Given the description of an element on the screen output the (x, y) to click on. 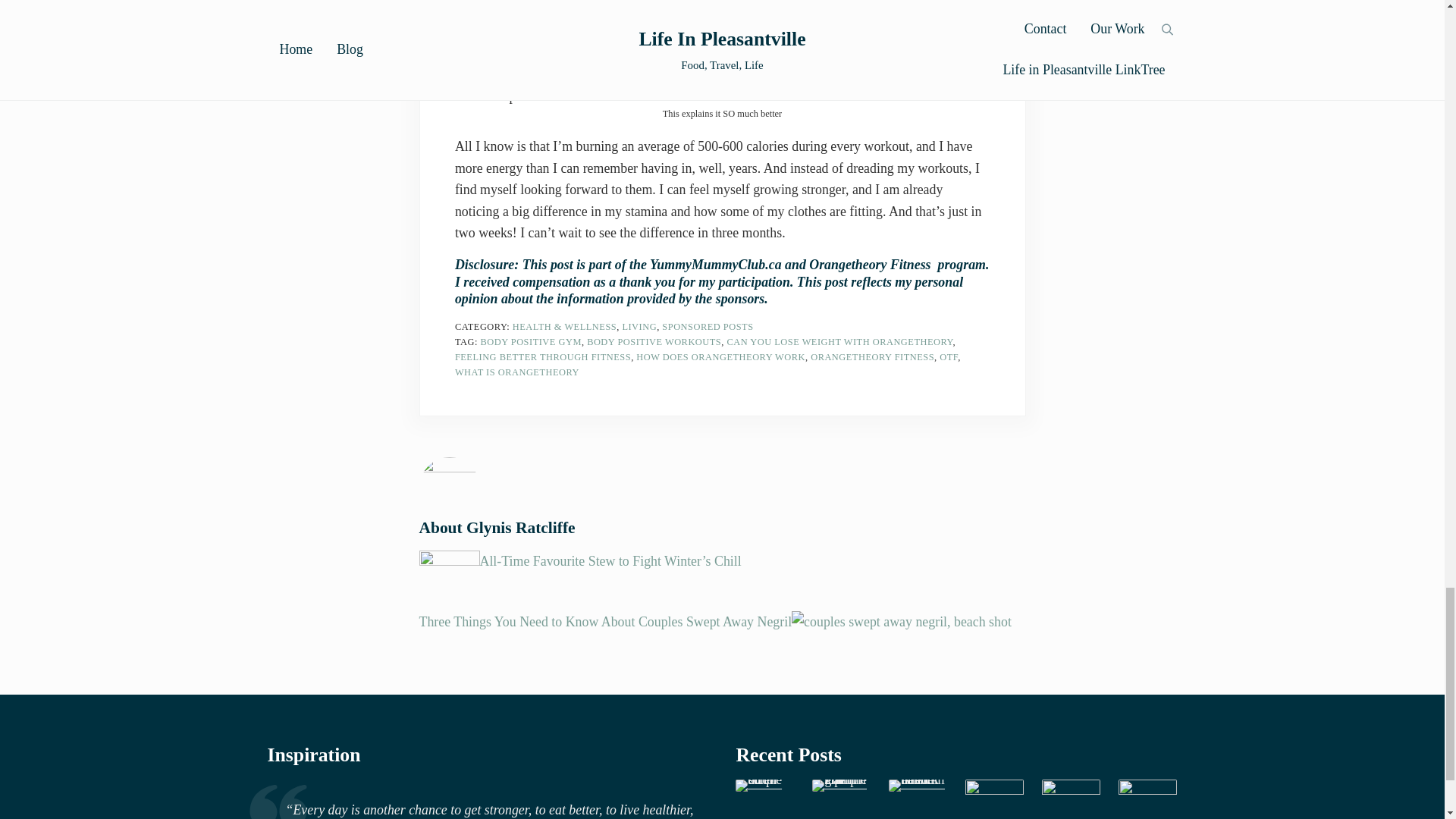
HOW DOES ORANGETHEORY WORK (720, 357)
CAN YOU LOSE WEIGHT WITH ORANGETHEORY (839, 341)
BODY POSITIVE GYM (530, 341)
BODY POSITIVE WORKOUTS (653, 341)
OTF (948, 357)
LIVING (638, 326)
FEELING BETTER THROUGH FITNESS (542, 357)
SPONSORED POSTS (707, 326)
